Given the description of an element on the screen output the (x, y) to click on. 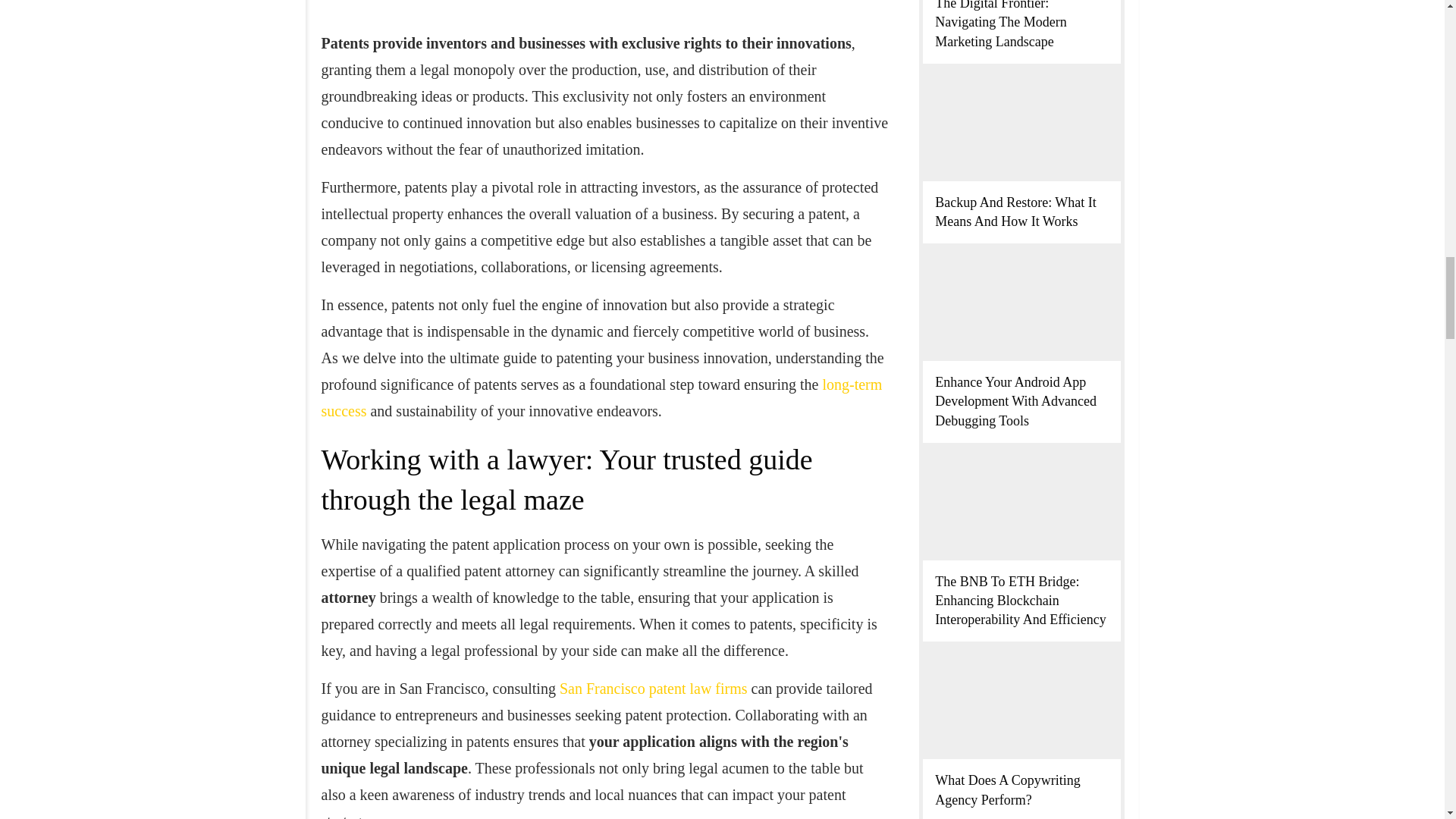
long-term success (601, 397)
Backup And Restore: What It Means And How It Works (1015, 211)
San Francisco patent law firms (653, 688)
